Given the description of an element on the screen output the (x, y) to click on. 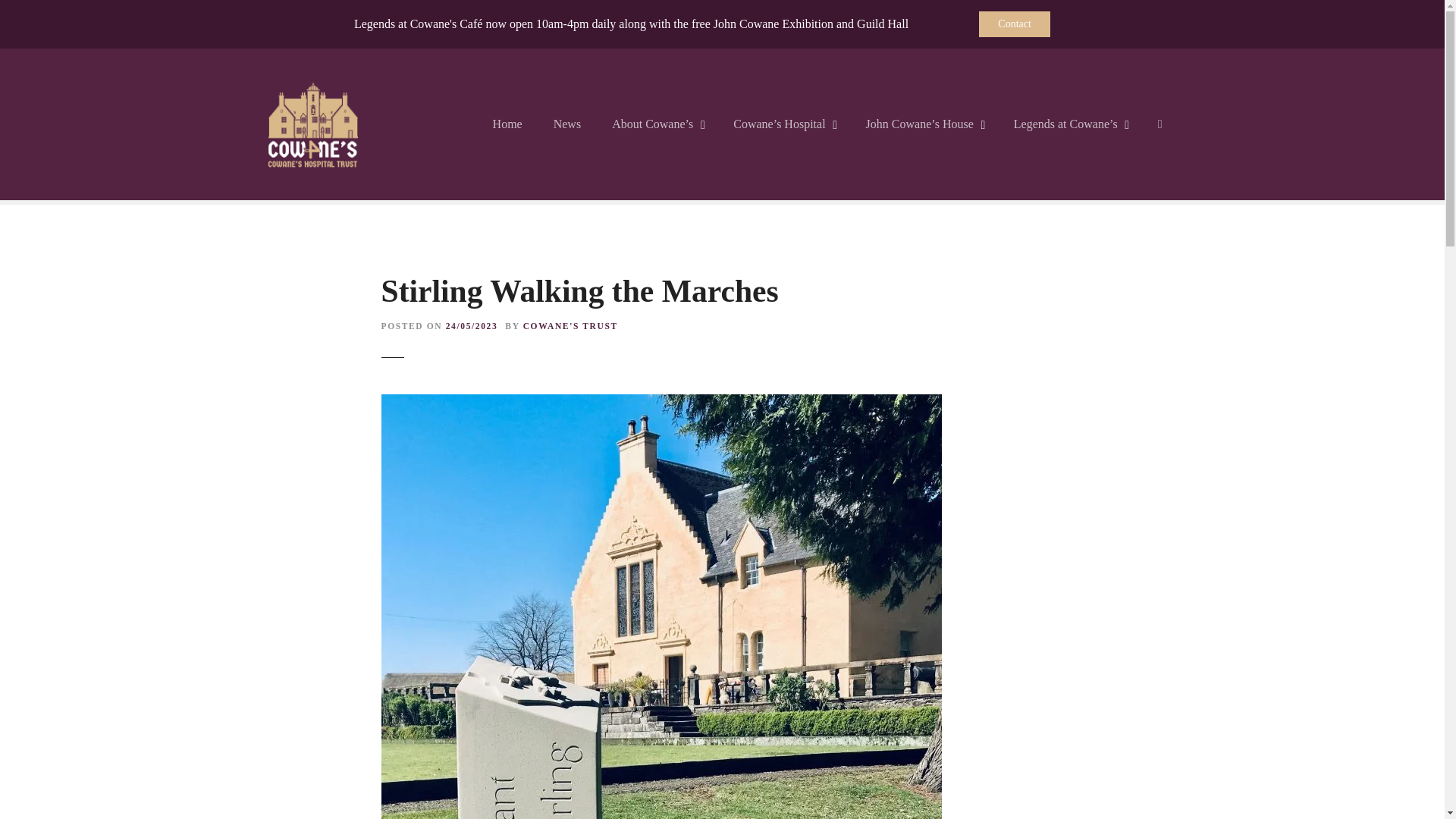
Contact (1013, 23)
Home (507, 124)
Stirling Walking the Marches (660, 402)
News (566, 124)
